Given the description of an element on the screen output the (x, y) to click on. 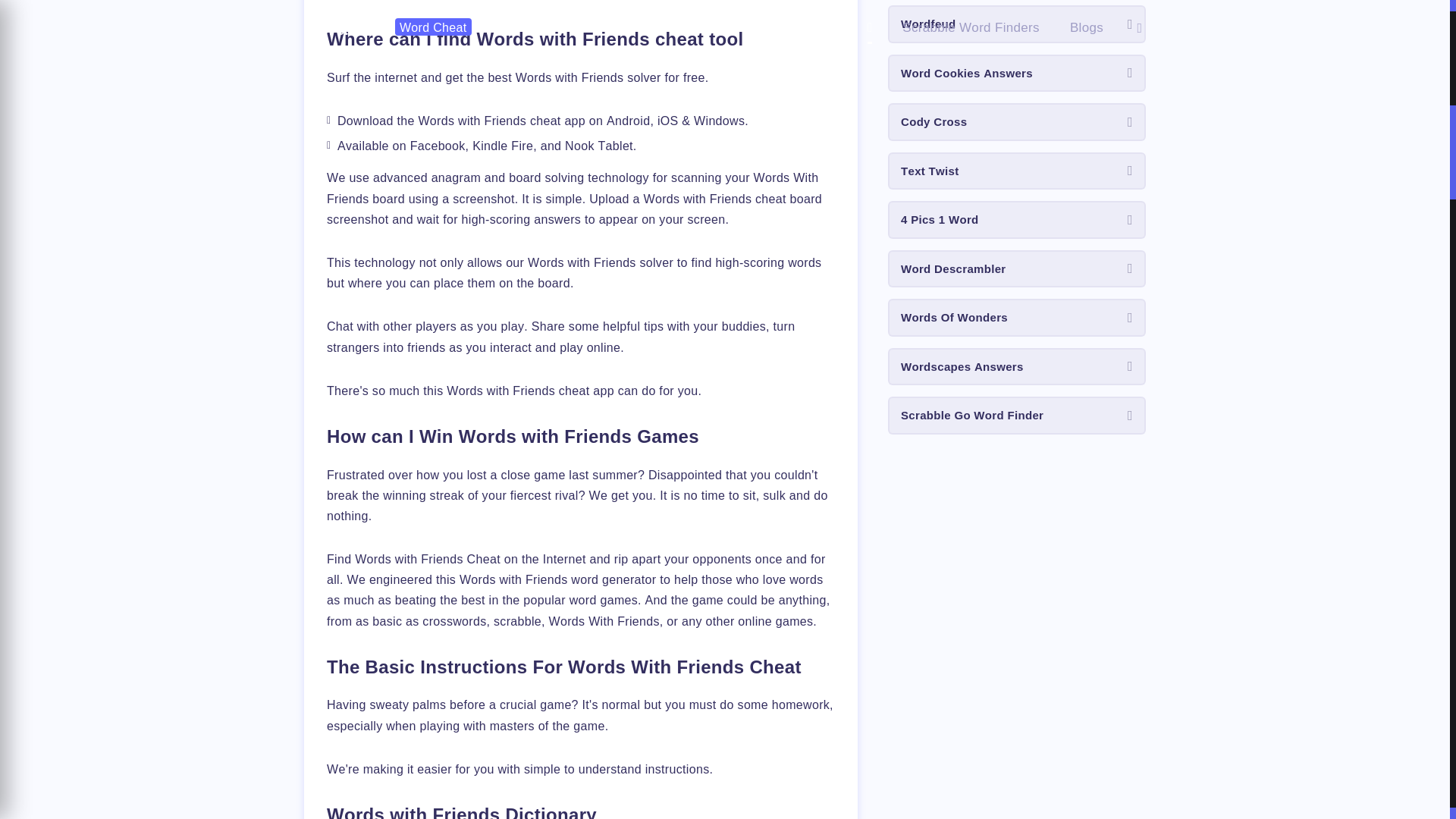
Scrabble Go Word Finder (1016, 415)
Wordfeud (1016, 23)
Text Twist (1016, 171)
Word Cookies Answers (1016, 73)
Word Descrambler (1016, 269)
Words Of Wonders (1016, 317)
Wordscapes Answers (1016, 366)
Cody Cross (1016, 121)
4 Pics 1 Word (1016, 219)
